Given the description of an element on the screen output the (x, y) to click on. 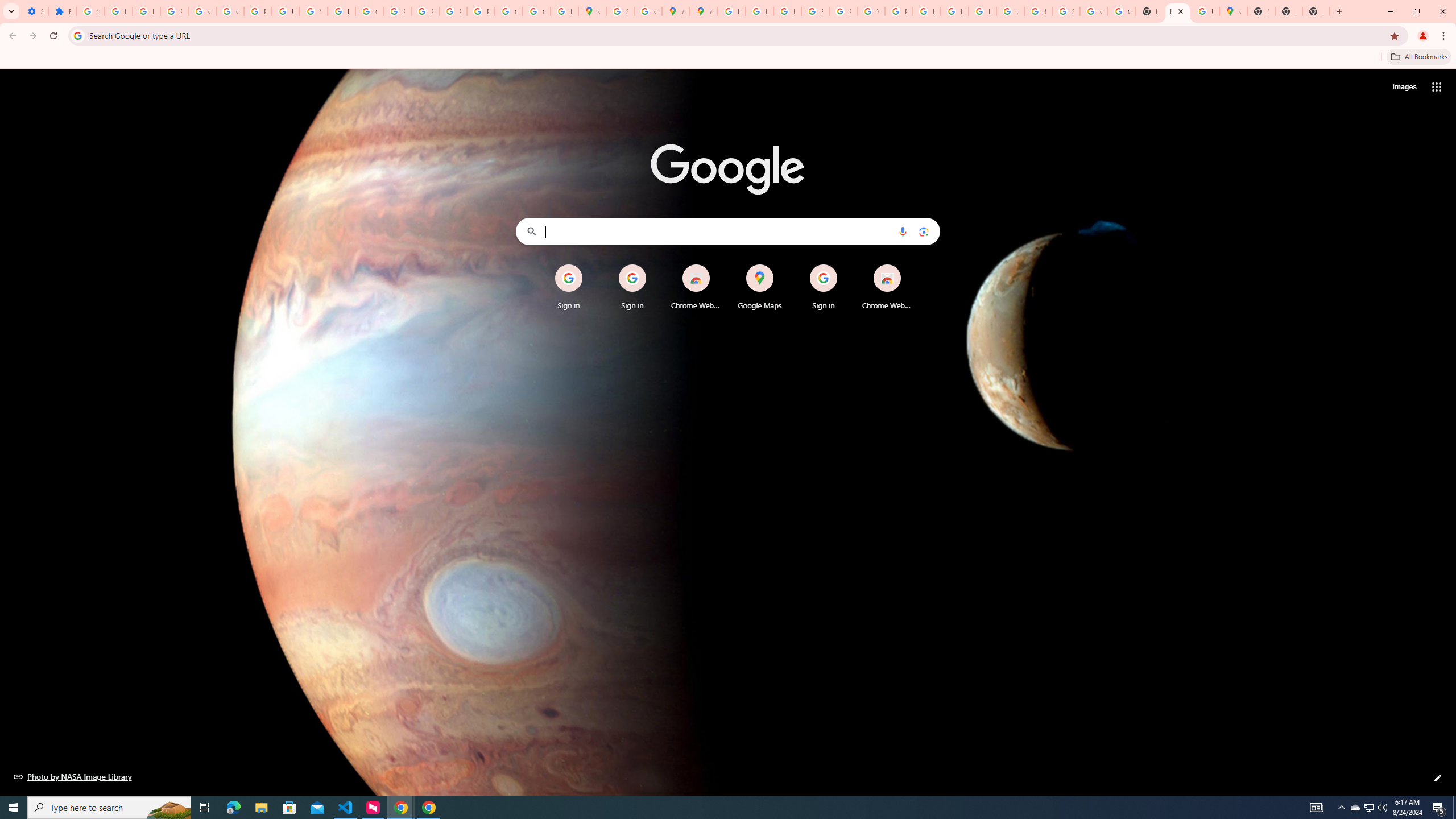
YouTube (870, 11)
Chrome Web Store (887, 287)
Sign in - Google Accounts (90, 11)
Google Account Help (202, 11)
